Given the description of an element on the screen output the (x, y) to click on. 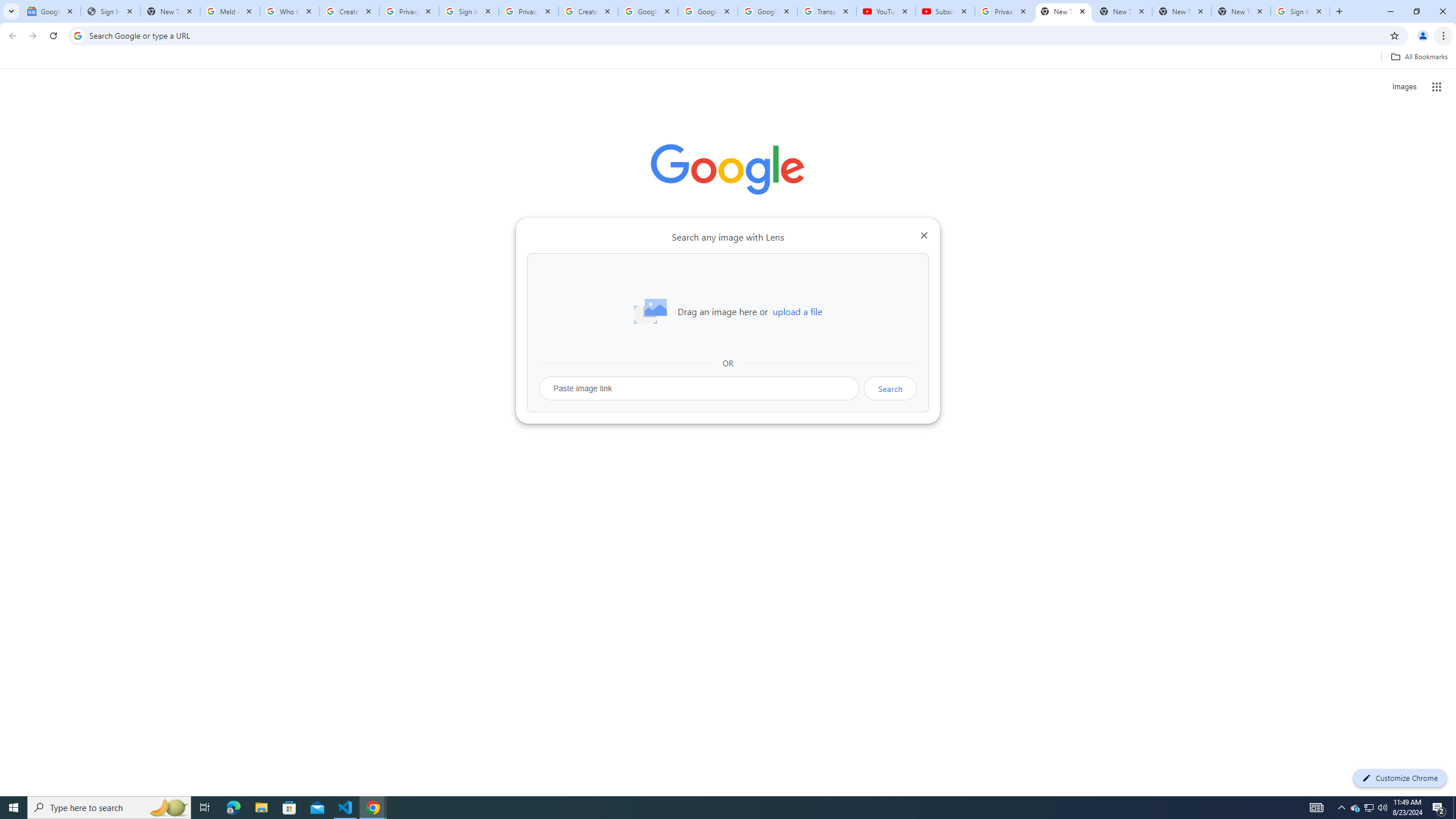
More actions for Chrome Web Store shortcut (686, 265)
YouTube (885, 11)
More actions for Sign in shortcut (814, 265)
